Given the description of an element on the screen output the (x, y) to click on. 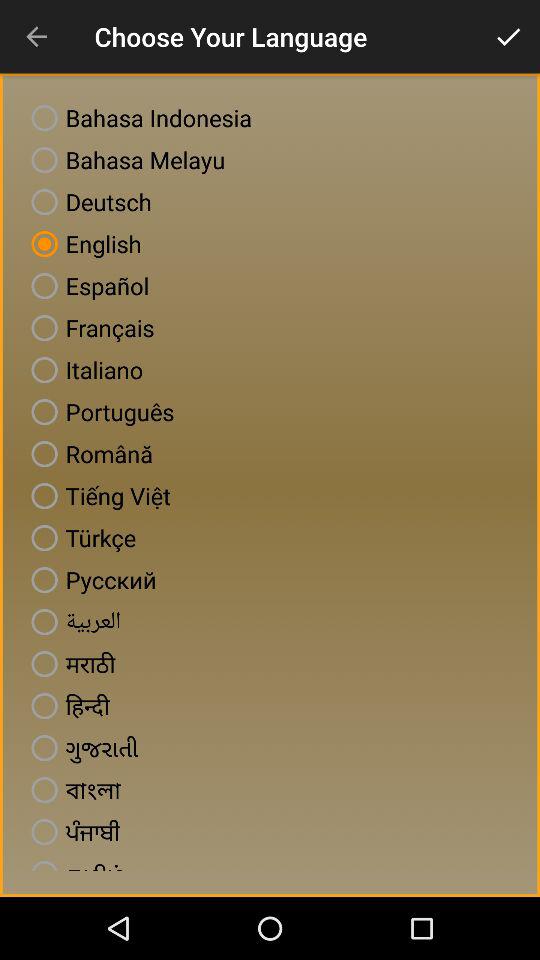
scroll until bahasa indonesia item (137, 118)
